Given the description of an element on the screen output the (x, y) to click on. 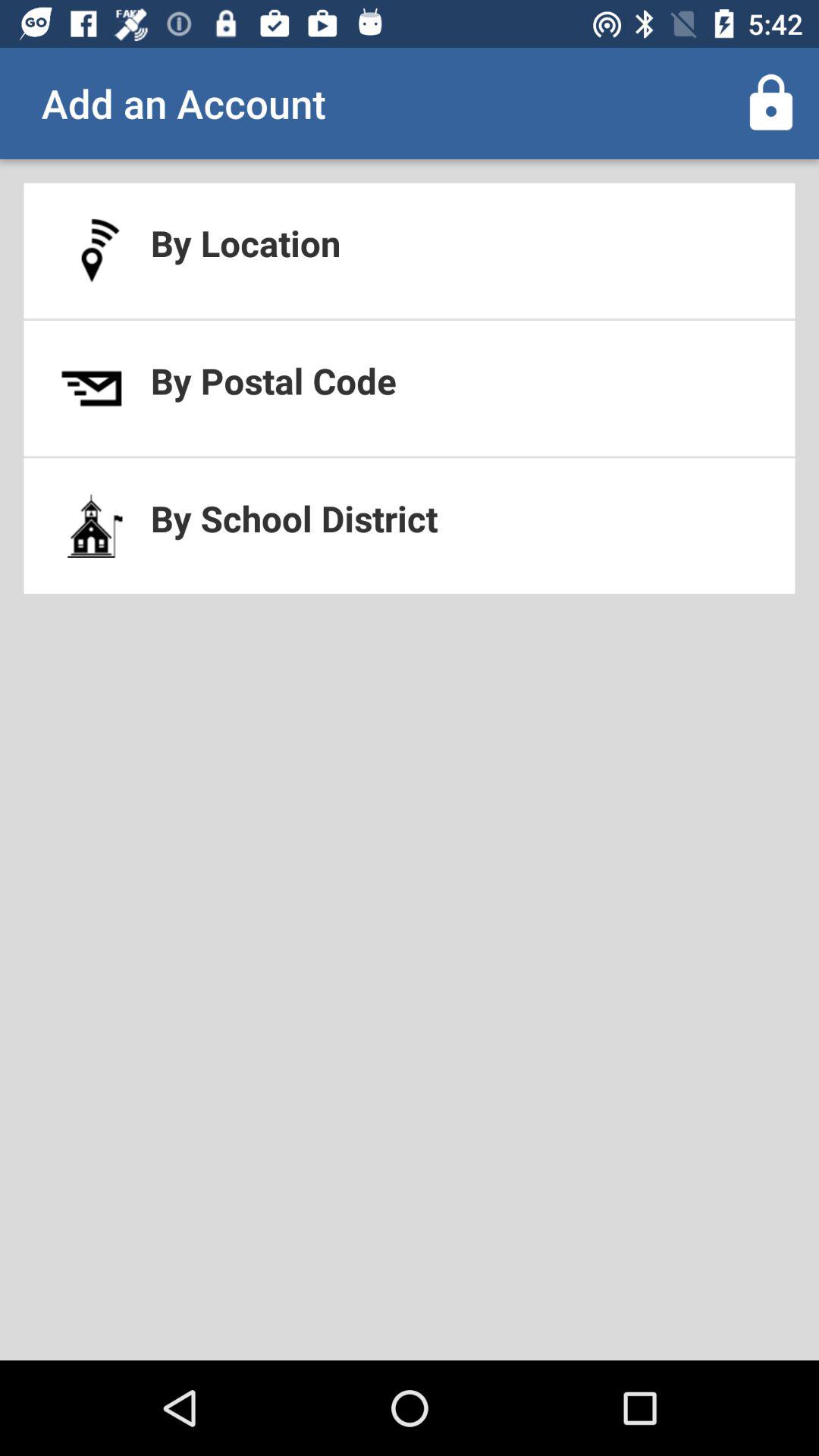
tap icon next to the  add an account app (771, 103)
